Given the description of an element on the screen output the (x, y) to click on. 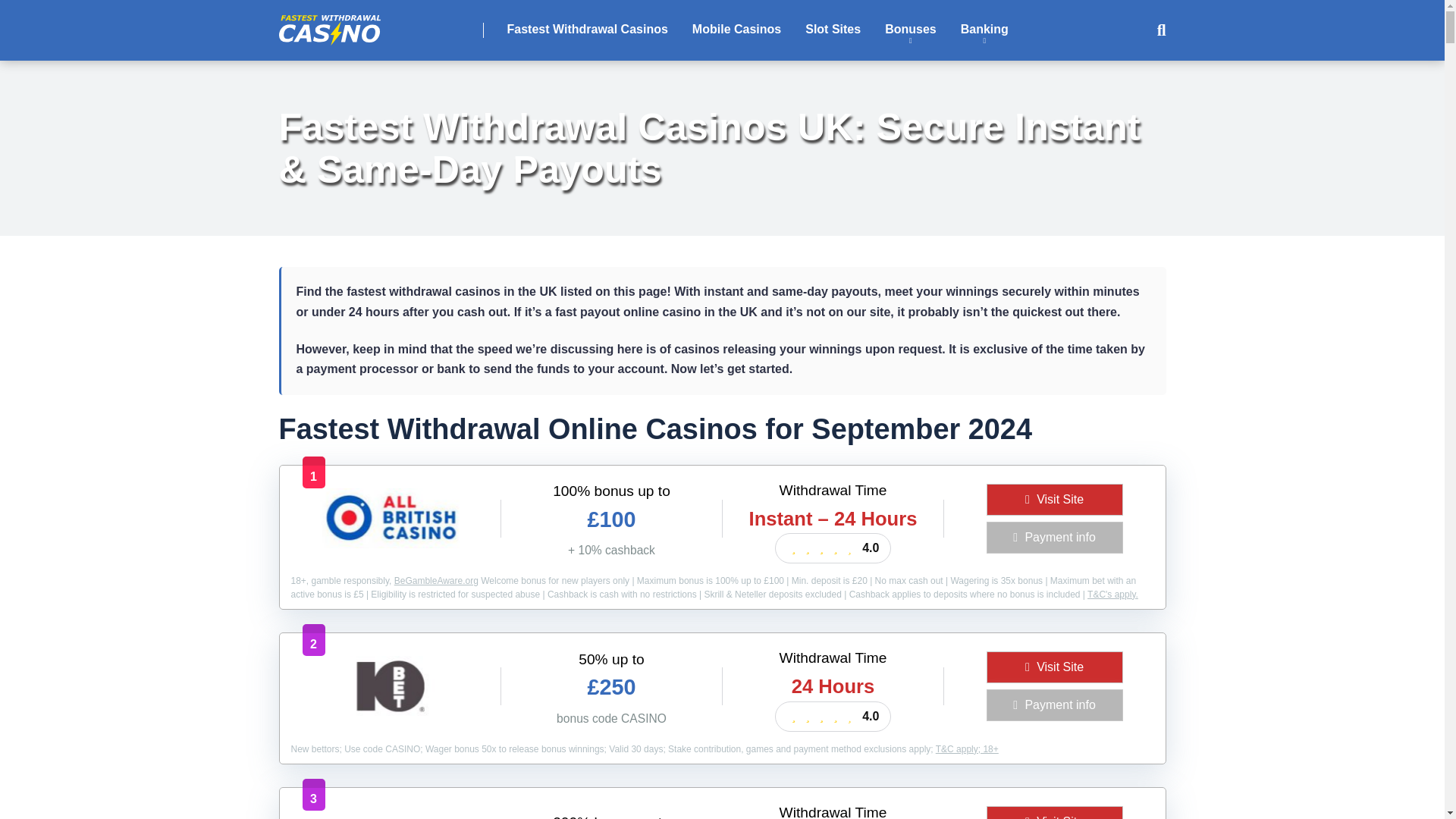
Payment info (1053, 537)
Payment info (1053, 705)
Payment info (1053, 705)
Slot Sites (832, 30)
Visit Site (1053, 499)
Visit Site (1053, 499)
All British Casino Review (389, 543)
Visit Site (1053, 667)
Fastest Withdrawal Casinos (587, 30)
Banking (984, 30)
